Given the description of an element on the screen output the (x, y) to click on. 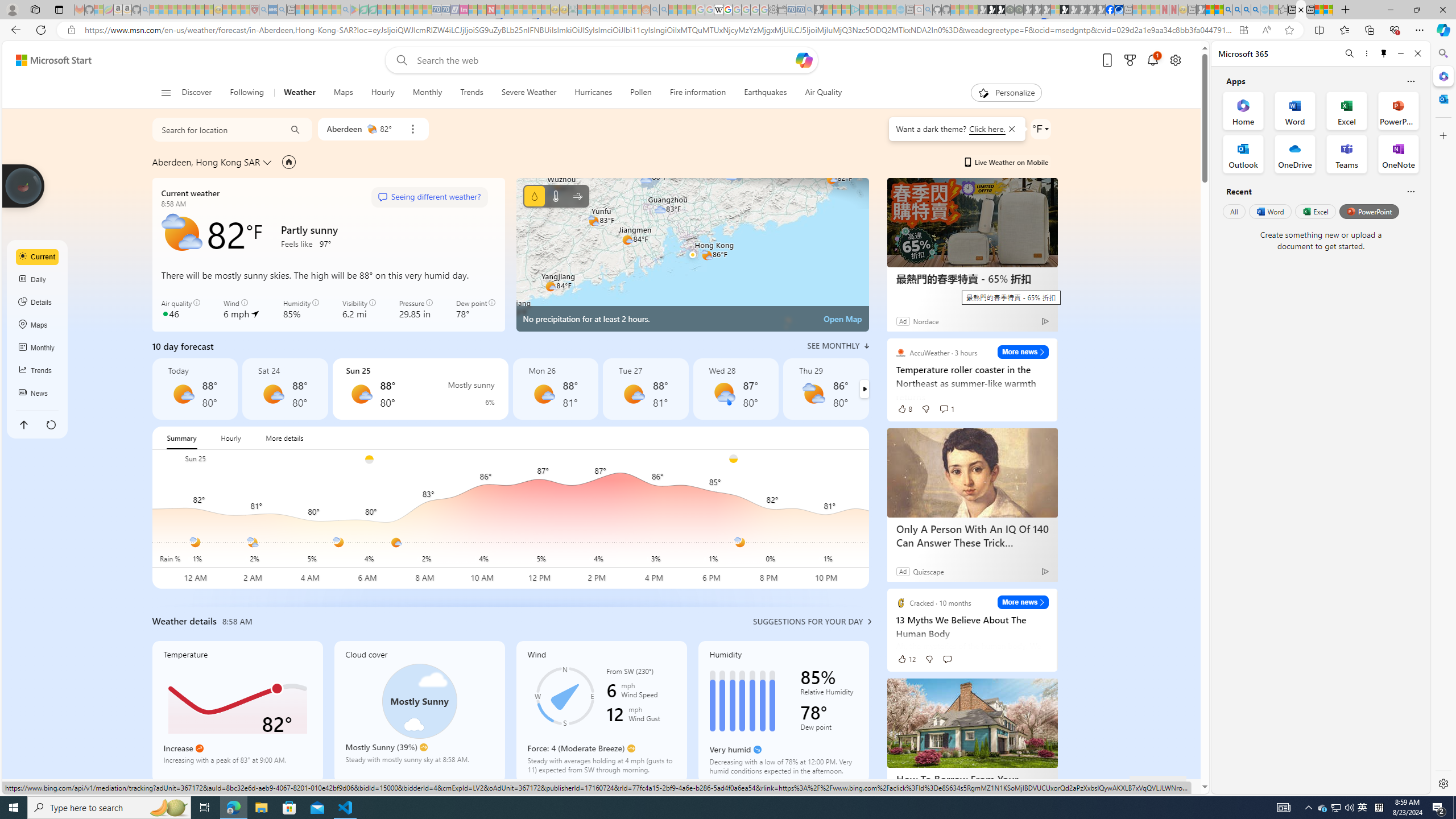
MSN - Sleeping (1200, 9)
PowerPoint Office App (1398, 110)
Favorites - Sleeping (1283, 9)
Aberdeen, Hong Kong SAR weather forecast | Microsoft Weather (1300, 9)
Quizscape (927, 570)
